Given the description of an element on the screen output the (x, y) to click on. 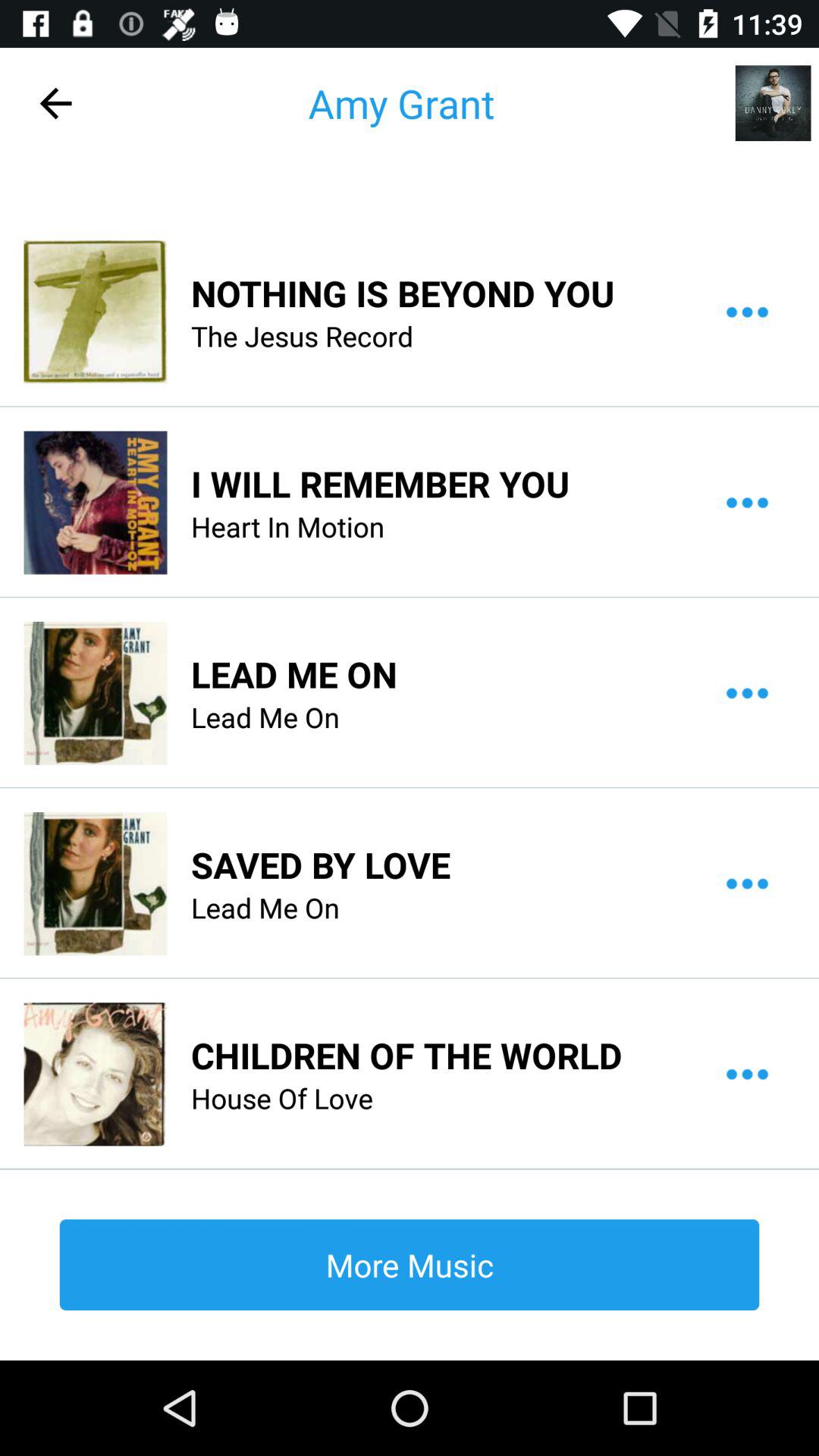
open icon above house of love item (406, 1055)
